Given the description of an element on the screen output the (x, y) to click on. 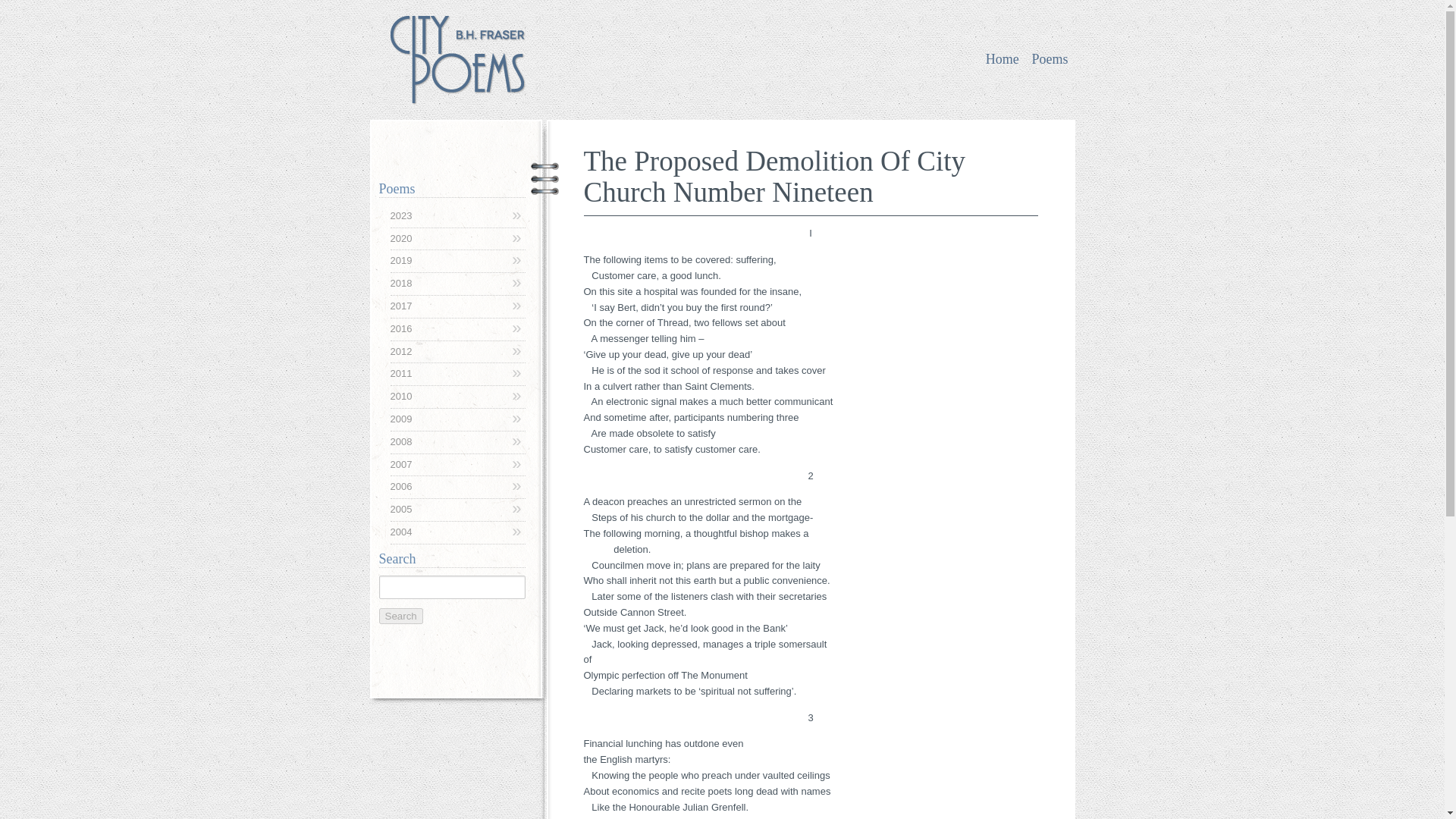
2008 (457, 442)
2004 (457, 532)
2007 (457, 465)
2023 (457, 216)
Search (400, 616)
2018 (457, 283)
Poems (1048, 59)
2009 (457, 419)
2012 (457, 351)
2011 (457, 374)
2020 (457, 238)
Home (1002, 59)
2017 (457, 306)
Search (400, 616)
2005 (457, 509)
